Given the description of an element on the screen output the (x, y) to click on. 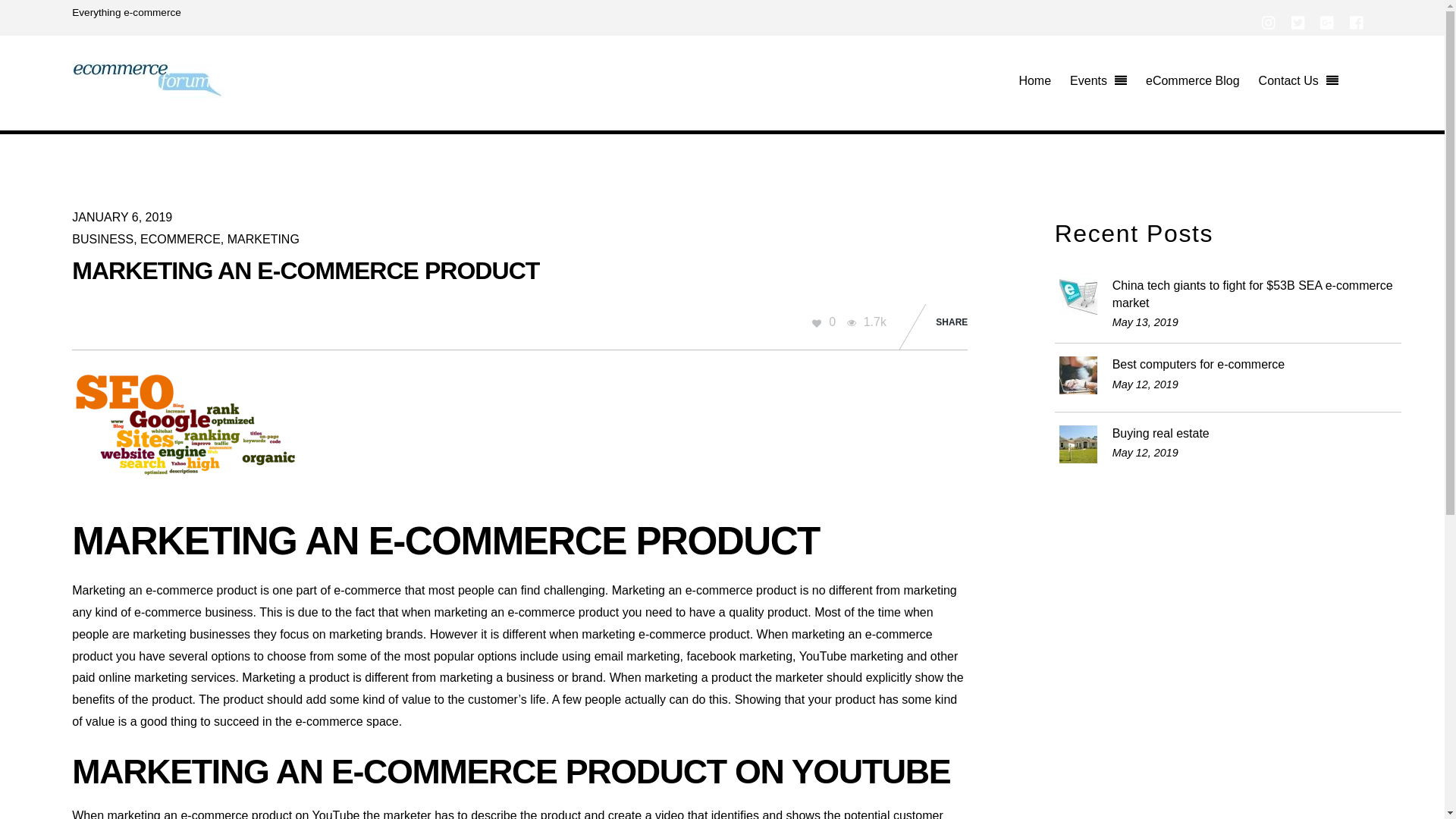
The good and bad side of e-commerce (1078, 296)
Contact Us (1297, 81)
BUSINESS (102, 238)
MARKETING AN E-COMMERCE PRODUCT (304, 270)
ECOMMERCE (180, 238)
Buying real estate online (1078, 444)
eCommerce Blog (1192, 81)
Best computers for e-commerce (1229, 364)
0 (825, 321)
MARKETING (263, 238)
SHARE (952, 322)
eCommerce Forum (147, 89)
Like it! (825, 321)
Buying real estate (1229, 433)
Performing online marketing at home (1078, 374)
